Given the description of an element on the screen output the (x, y) to click on. 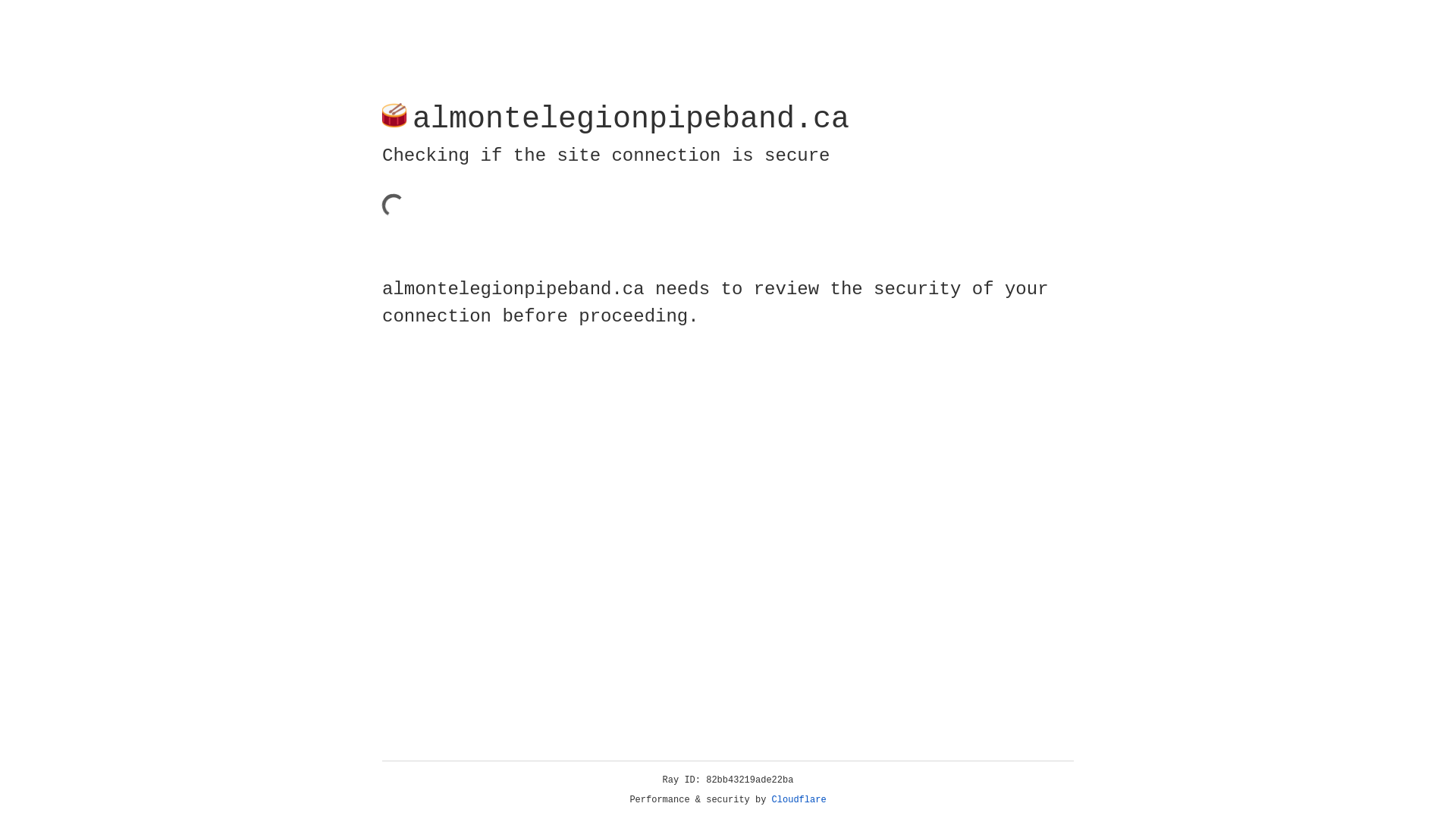
Cloudflare Element type: text (798, 799)
